Given the description of an element on the screen output the (x, y) to click on. 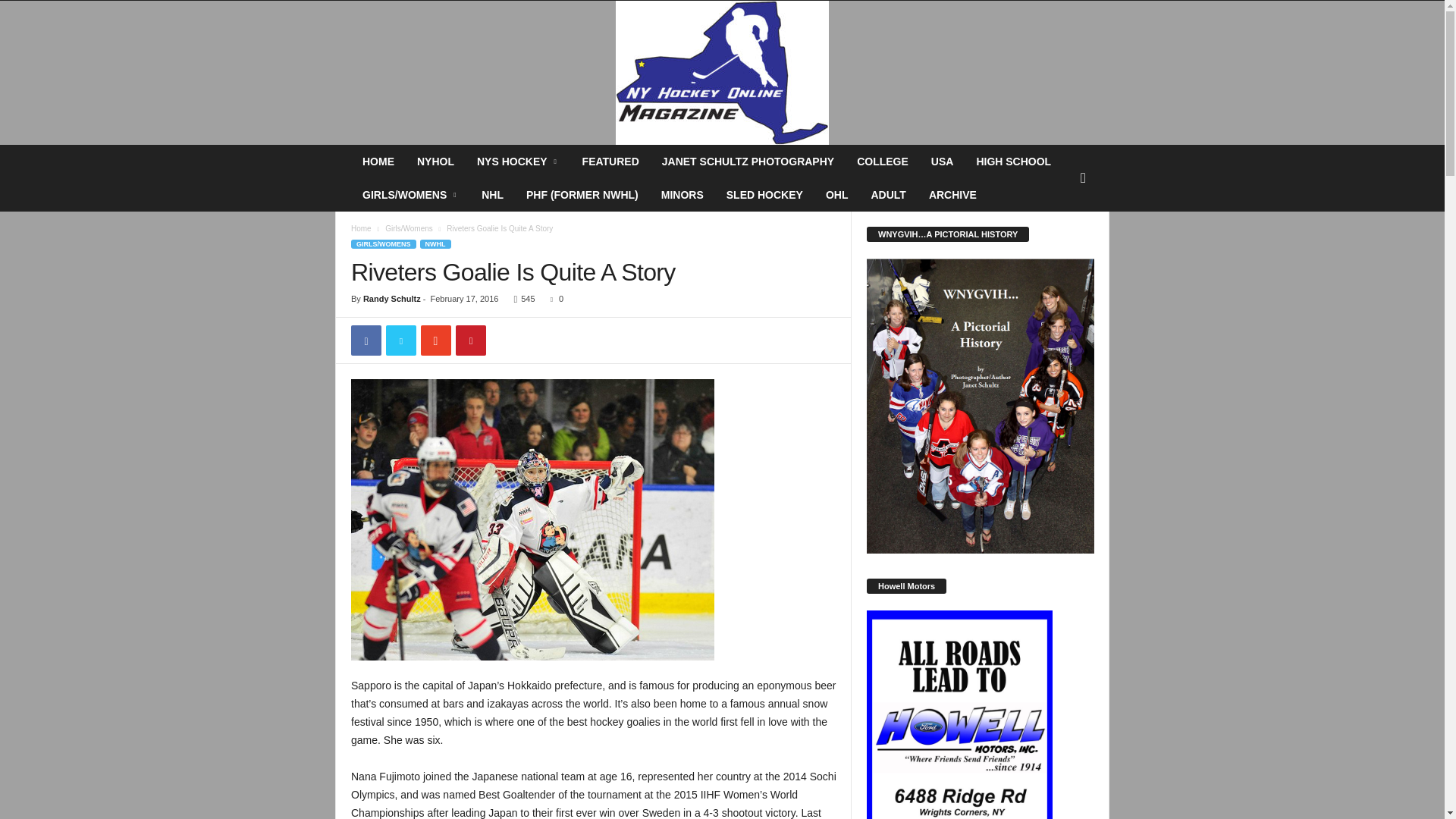
NYHOL (435, 161)
JANET SCHULTZ PHOTOGRAPHY (747, 161)
NYS HOCKEY (517, 161)
USA (942, 161)
FEATURED (610, 161)
COLLEGE (882, 161)
HOME (378, 161)
Nana-Rivaters (532, 519)
HIGH SCHOOL (1012, 161)
